Given the description of an element on the screen output the (x, y) to click on. 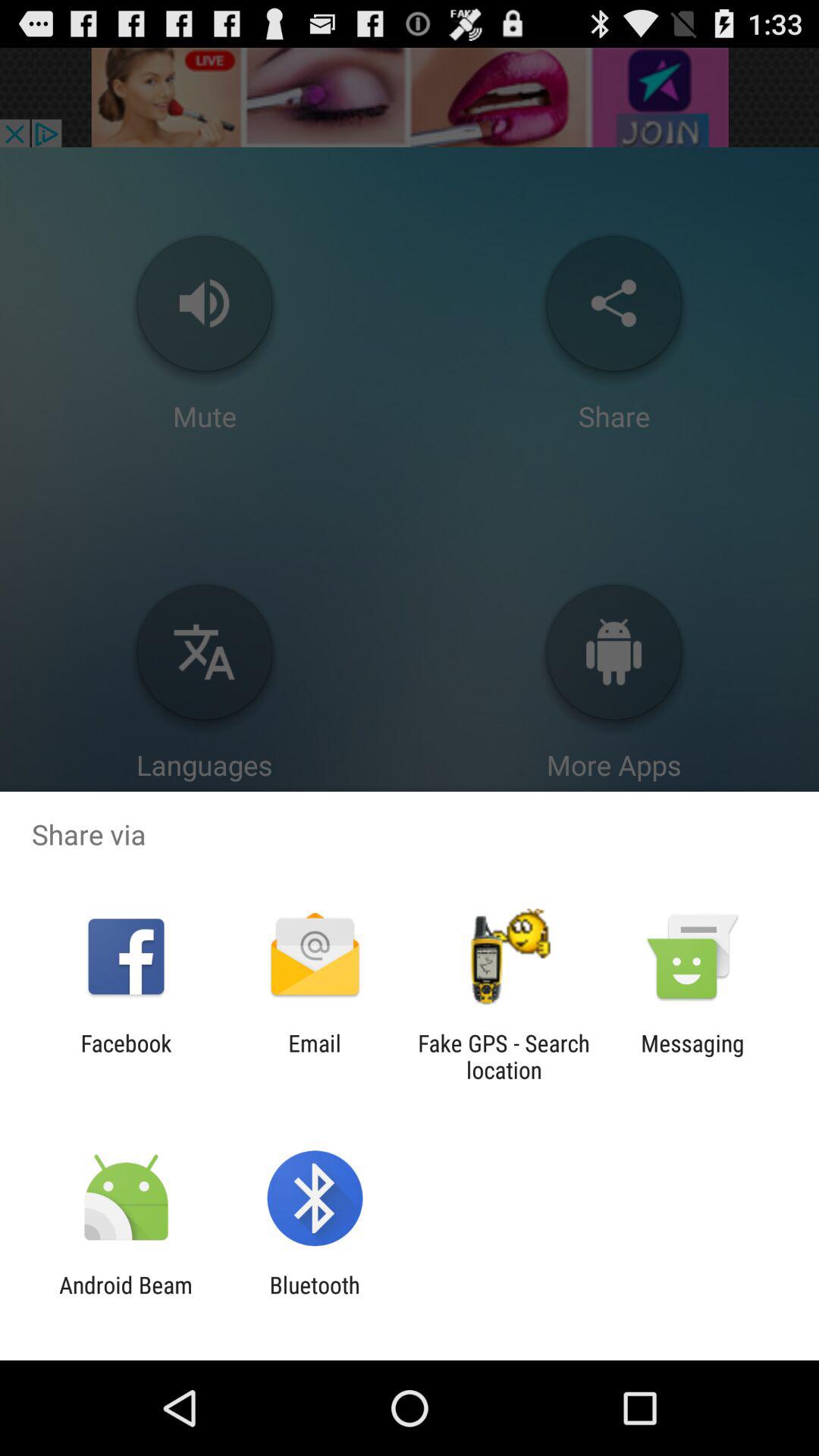
turn on icon to the right of email (503, 1056)
